Given the description of an element on the screen output the (x, y) to click on. 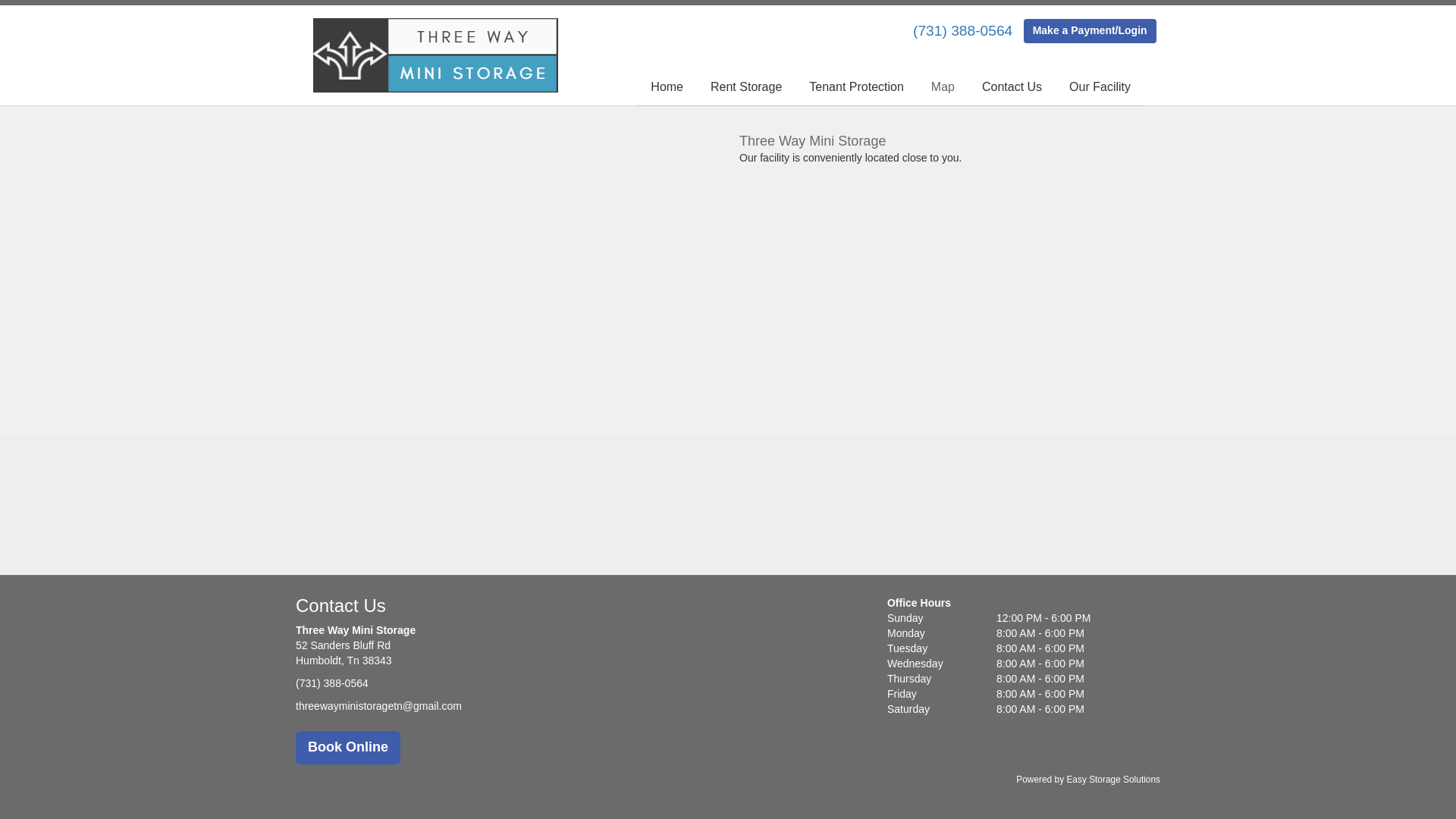
(731) 388-0564 Element type: text (962, 30)
Home Element type: text (666, 87)
Rent Storage Element type: text (745, 87)
Tenant Protection Element type: text (856, 87)
Map Element type: text (942, 87)
Book Online Element type: text (347, 747)
Make a Payment/Login Element type: text (1089, 30)
Easy Storage Solutions Element type: text (1113, 779)
Our Facility Element type: text (1099, 87)
threewayministoragetn@gmail.com Element type: text (378, 705)
Contact Us Element type: text (1011, 87)
(731) 388-0564 Element type: text (331, 683)
